Given the description of an element on the screen output the (x, y) to click on. 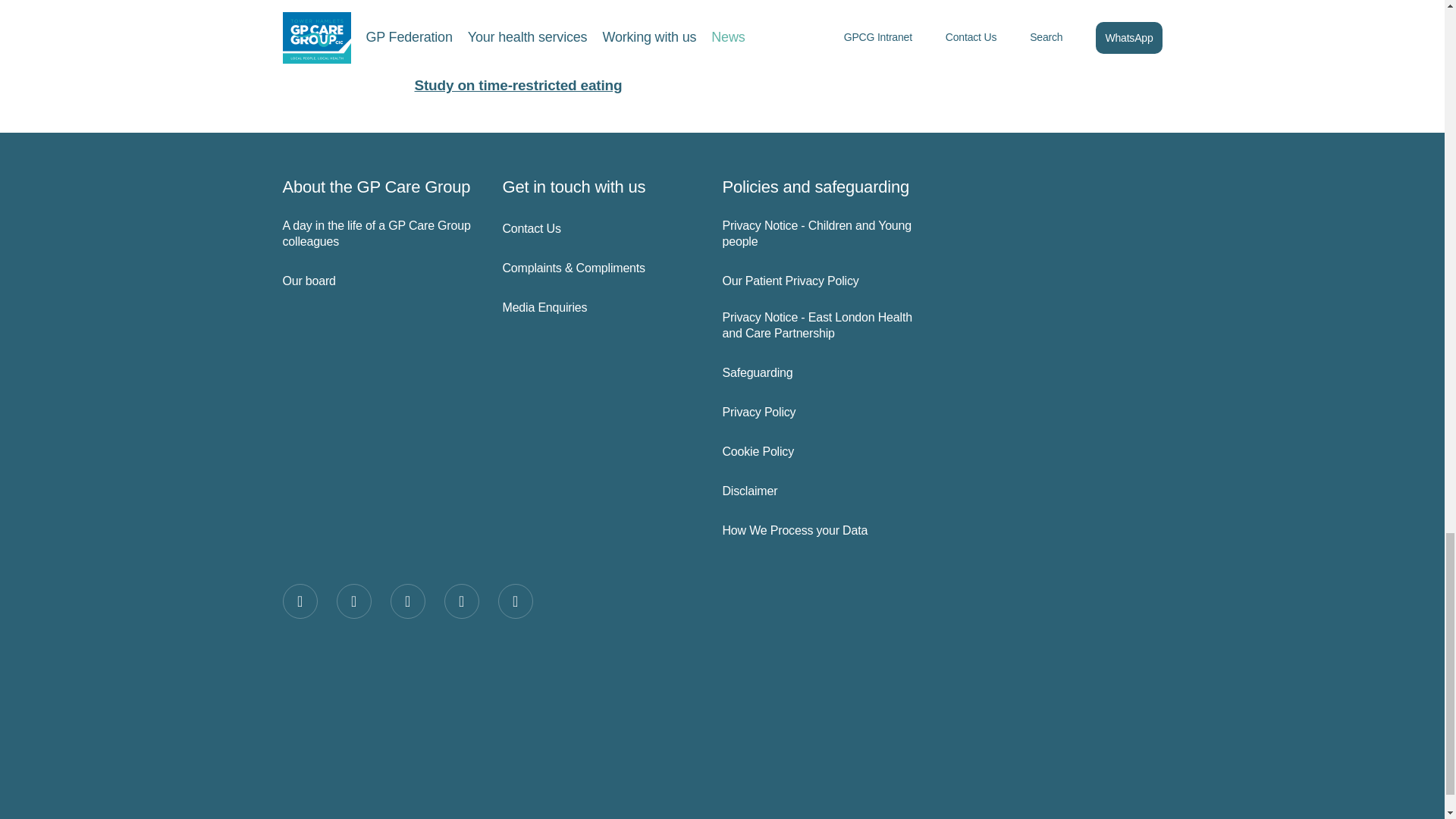
Twitter (353, 601)
Privacy Policy (818, 412)
Privacy Notice - Children and Young people (818, 234)
LinkedIn (461, 601)
Ramadan Nutrition Information (517, 50)
Our Patient Privacy Policy (818, 281)
Disclaimer (818, 491)
Youtube (514, 601)
LinkedIn (461, 601)
Facebook (299, 601)
